Given the description of an element on the screen output the (x, y) to click on. 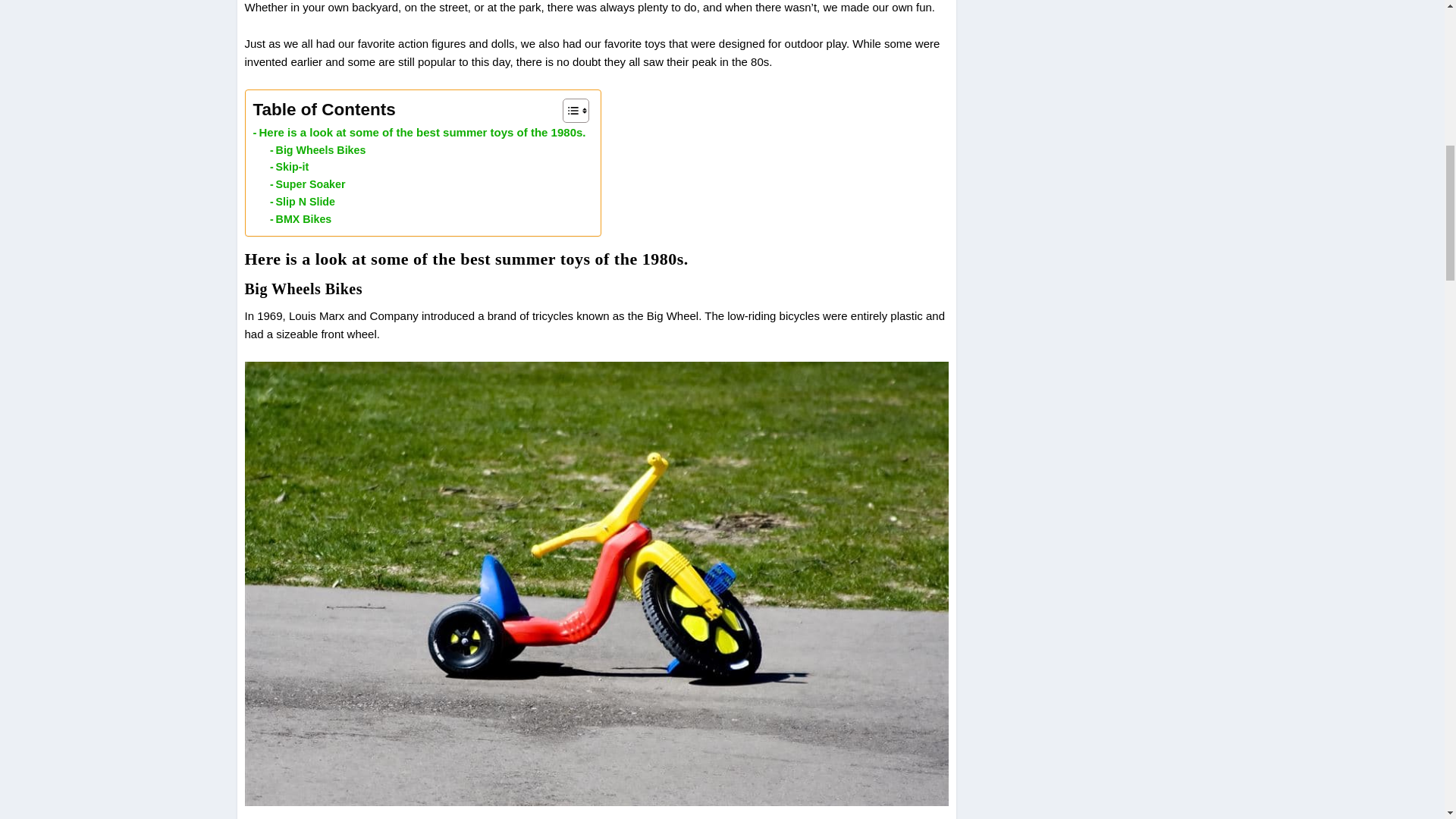
Slip N Slide (301, 201)
Super Soaker (307, 184)
Super Soaker (307, 184)
BMX Bikes (300, 219)
Skip-it (288, 167)
BMX Bikes (300, 219)
Slip N Slide (301, 201)
Here is a look at some of the best summer toys of the 1980s. (419, 132)
Skip-it (288, 167)
Big Wheels Bikes (317, 149)
